Given the description of an element on the screen output the (x, y) to click on. 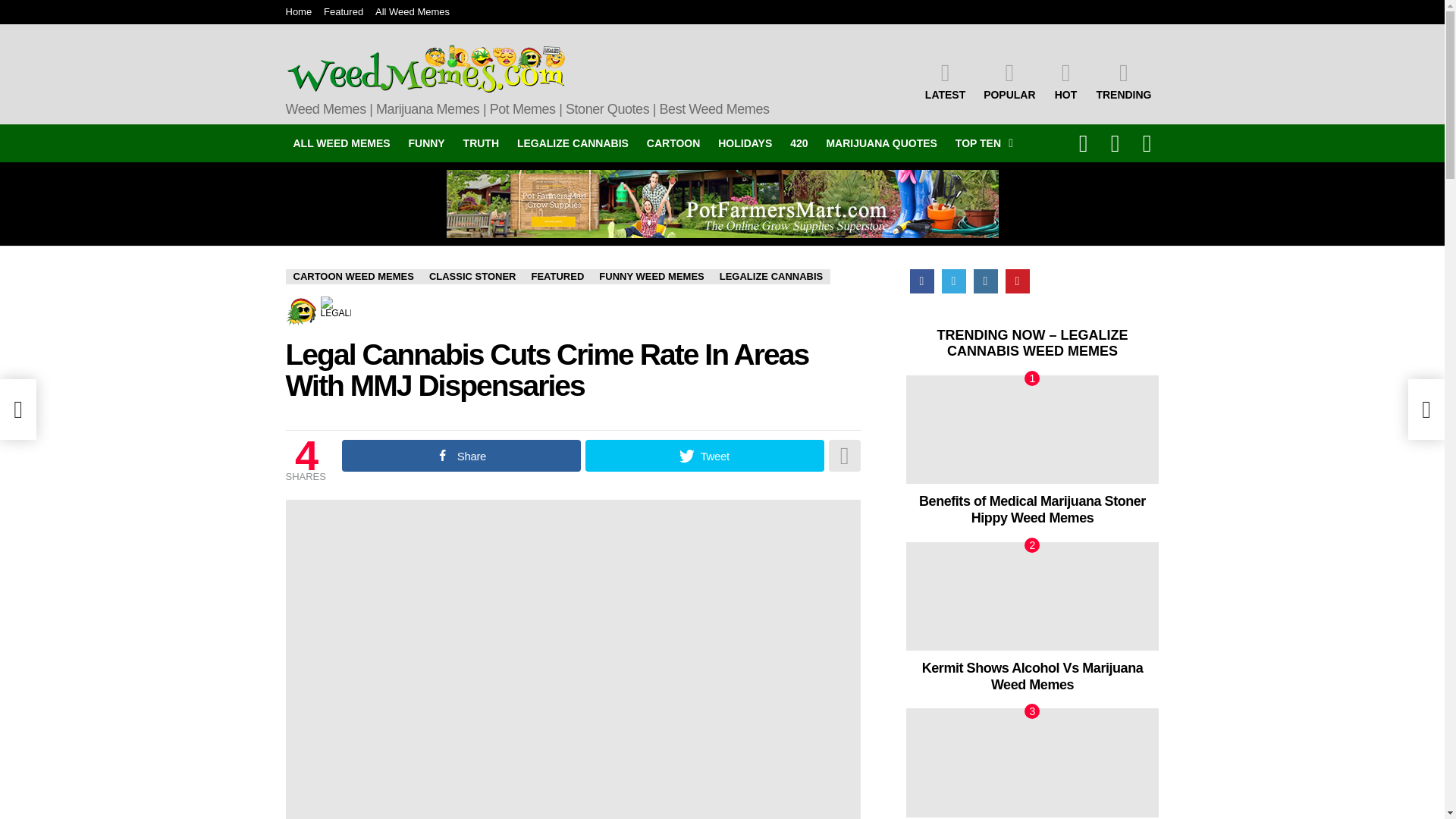
Marijuana Growing Supplies Grow Cannabis (721, 203)
TRUTH (480, 142)
TRENDING (1122, 80)
Funny Weed Memes (425, 142)
FUNNY (425, 142)
HOLIDAYS (744, 142)
Home (298, 12)
Featured (342, 12)
LEGALIZE CANNABIS (572, 142)
420 (799, 142)
CARTOON (673, 142)
POPULAR (1008, 80)
MARIJUANA QUOTES (881, 142)
Legalize (335, 311)
Cool (300, 311)
